Given the description of an element on the screen output the (x, y) to click on. 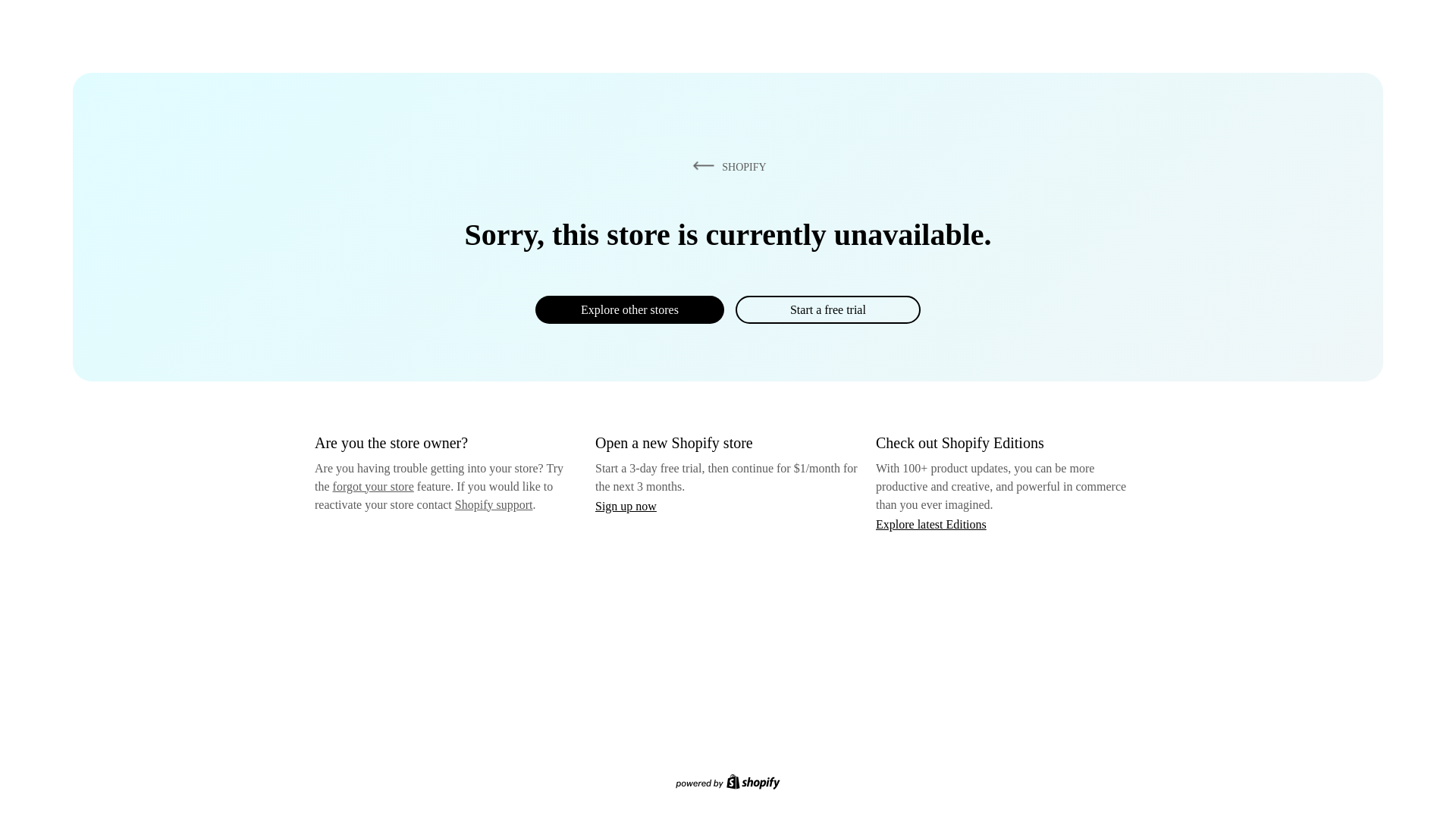
forgot your store (373, 486)
Sign up now (625, 505)
Shopify support (493, 504)
Start a free trial (827, 309)
SHOPIFY (726, 166)
Explore other stores (629, 309)
Explore latest Editions (931, 523)
